Given the description of an element on the screen output the (x, y) to click on. 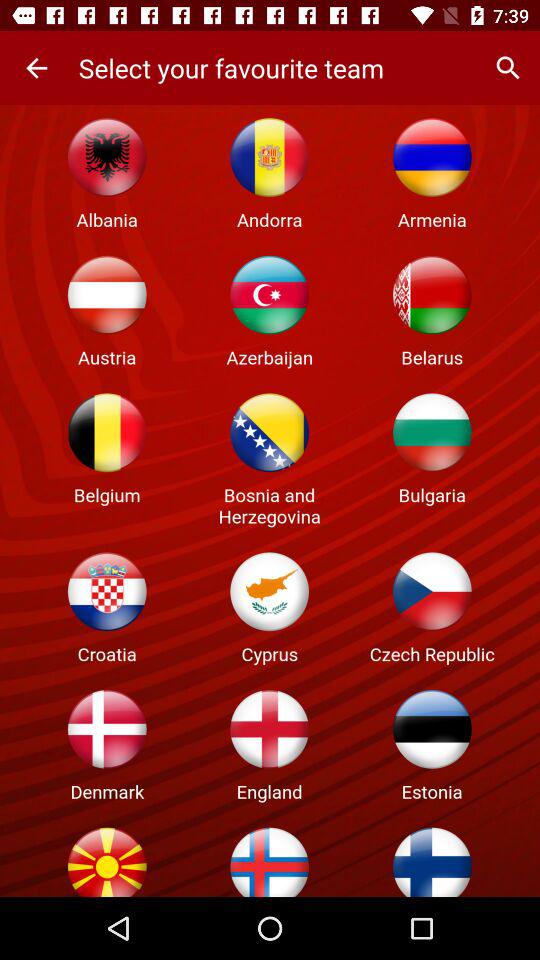
select the team logo of croatia (107, 591)
